Given the description of an element on the screen output the (x, y) to click on. 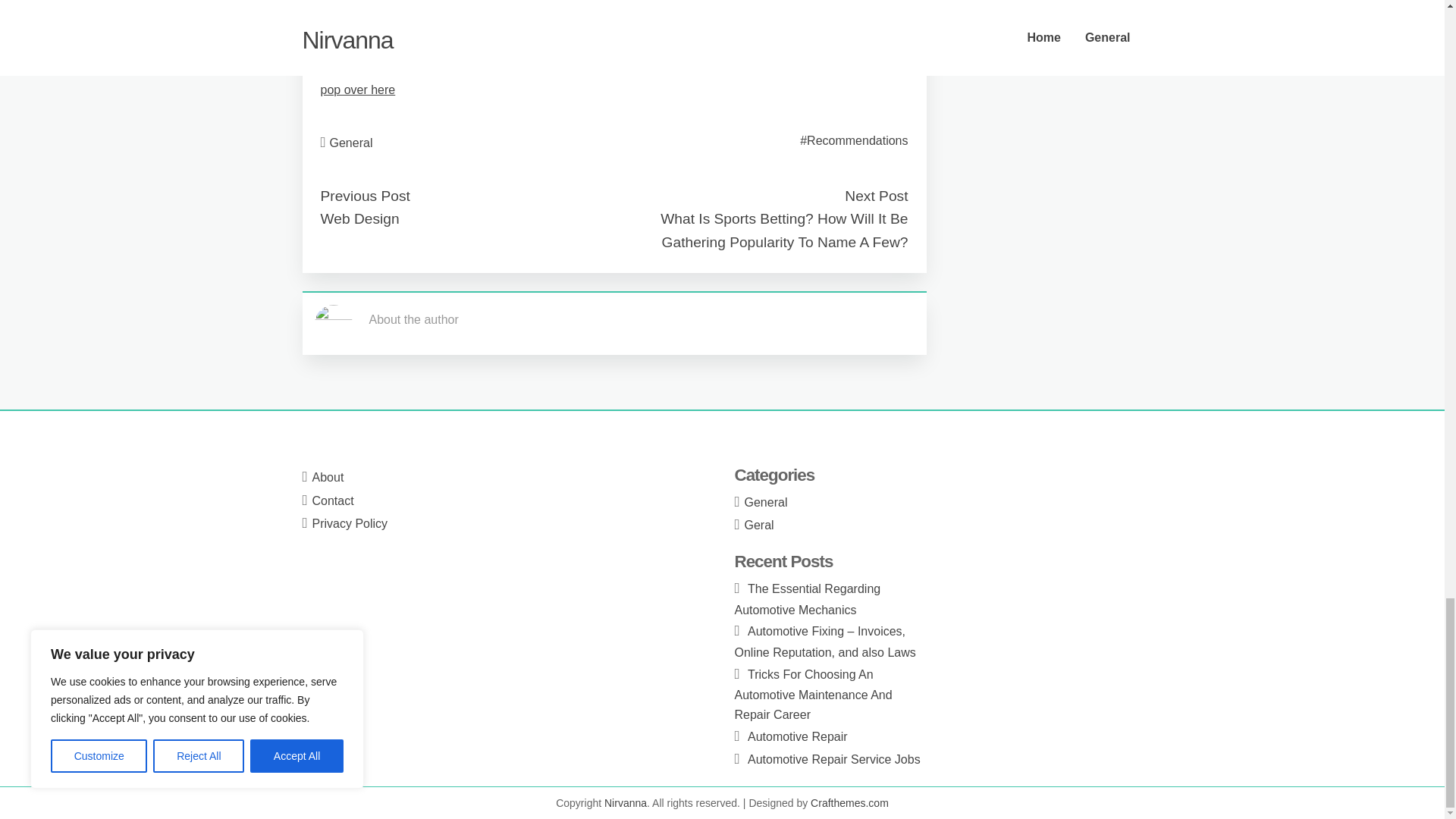
click the following internet site (407, 12)
General (351, 142)
Next Post (875, 195)
super fast reply (361, 51)
pop over here (357, 89)
Web Design (359, 218)
Previous Post (364, 195)
